Given the description of an element on the screen output the (x, y) to click on. 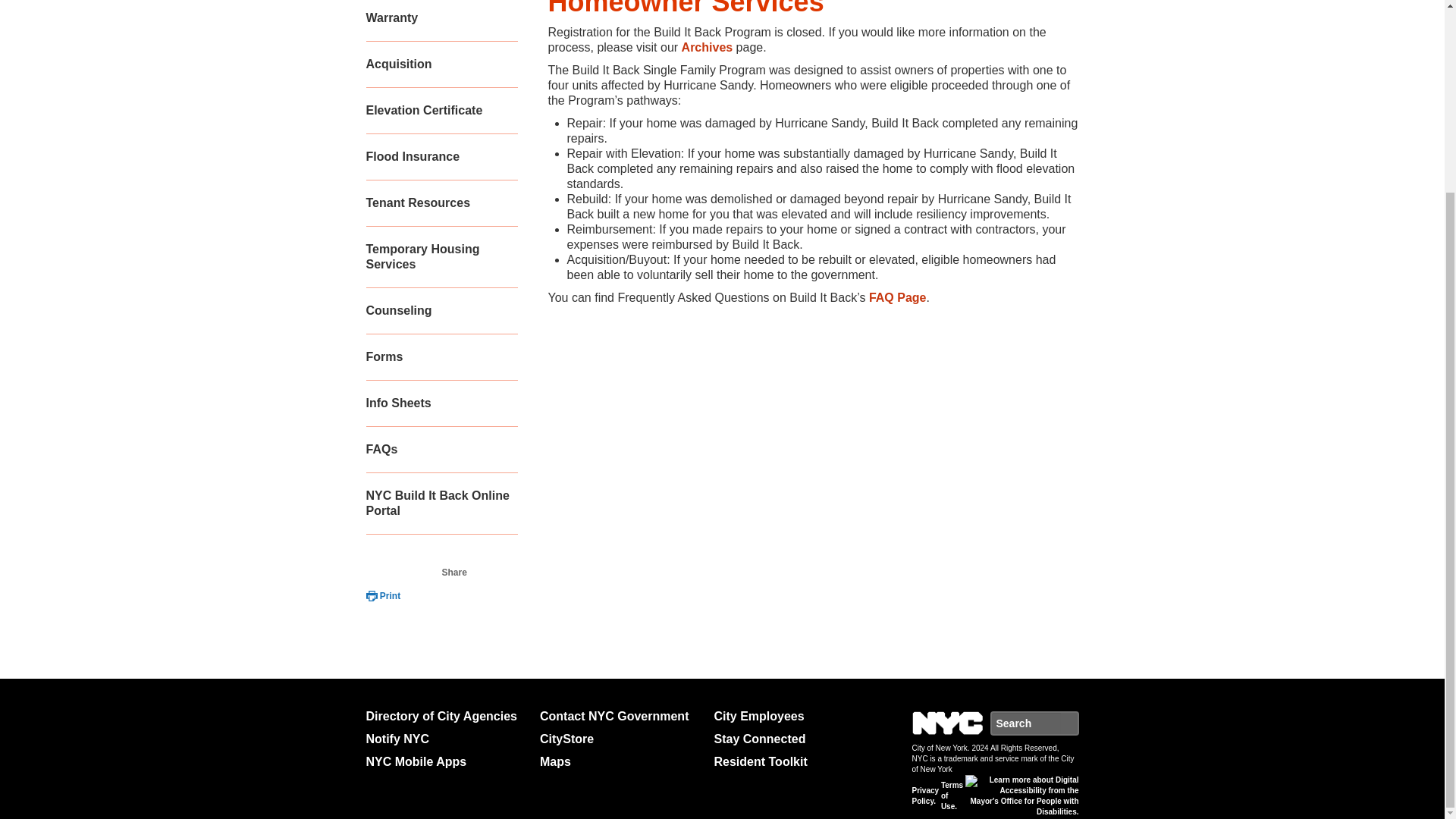
Warranty (440, 20)
Info Sheets (440, 403)
Forms (440, 357)
NYC Build It Back Online Portal (440, 503)
Archives (707, 47)
Temporary Housing Services (440, 257)
FAQ Page (897, 297)
Privacy Ploicy  (925, 795)
Counseling (440, 311)
Directory of City Agencies (446, 716)
Elevation Certificate (440, 110)
Acquisition (440, 64)
FAQs (440, 449)
Terms of Use (951, 796)
Tenant Resources (440, 203)
